Given the description of an element on the screen output the (x, y) to click on. 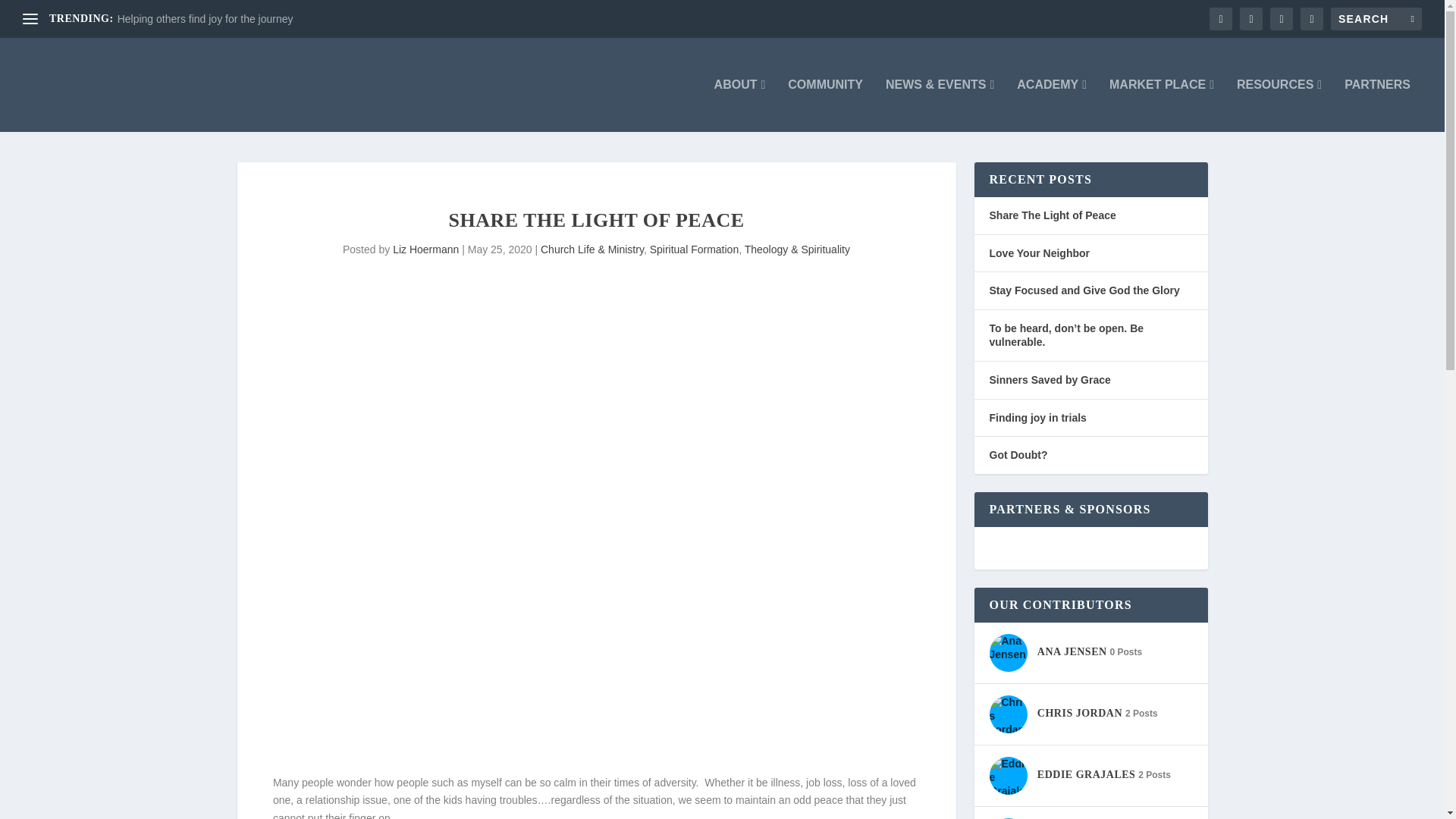
MARKET PLACE (1161, 104)
ACADEMY (1051, 104)
RESOURCES (1279, 104)
Search for: (1376, 18)
Spiritual Formation (694, 249)
Helping others find joy for the journey (205, 19)
Posts by Liz Hoermann (425, 249)
PARTNERS (1376, 104)
ABOUT (739, 104)
COMMUNITY (825, 104)
Liz Hoermann (425, 249)
